Given the description of an element on the screen output the (x, y) to click on. 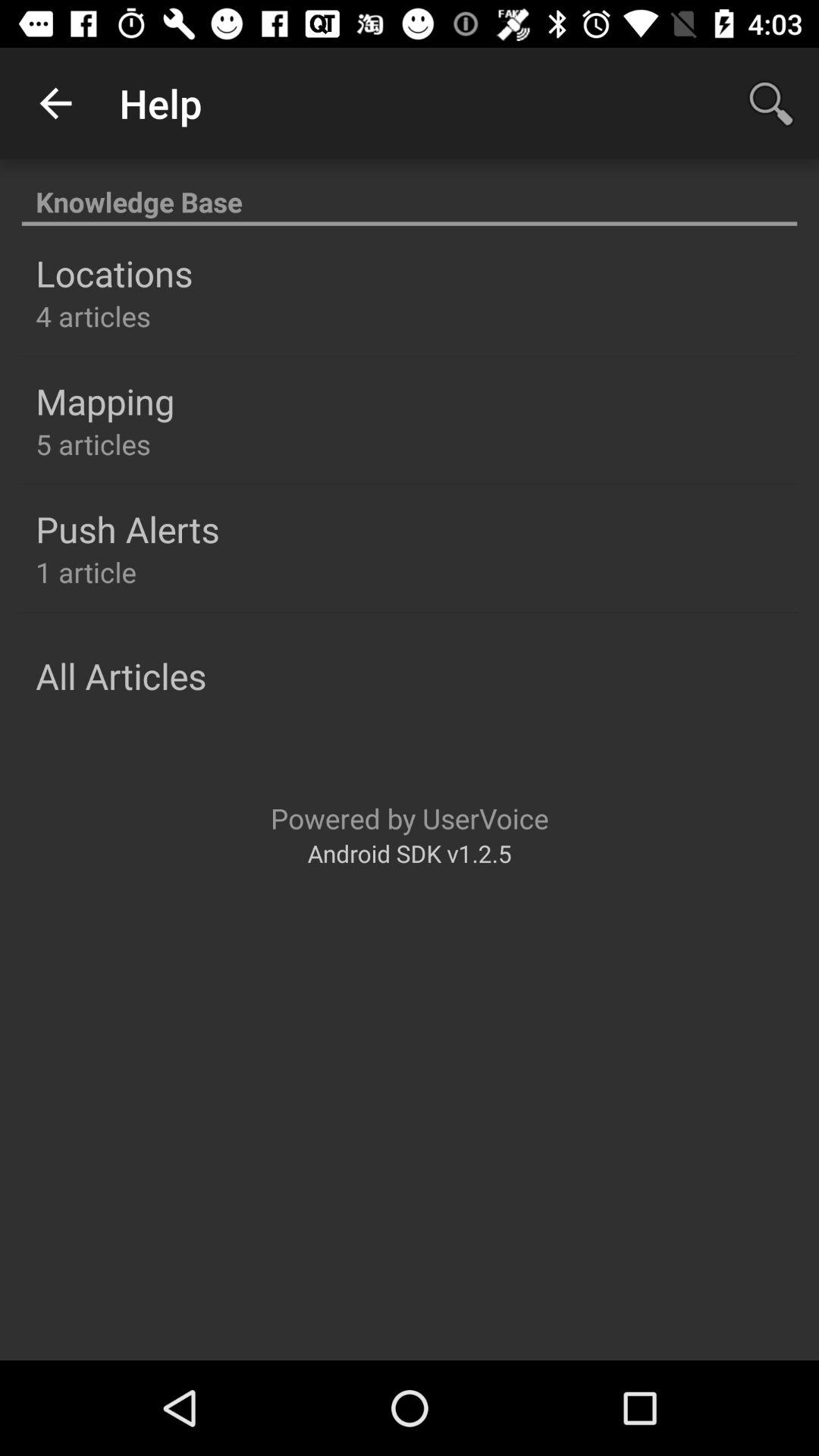
turn off the icon above knowledge base item (55, 103)
